Given the description of an element on the screen output the (x, y) to click on. 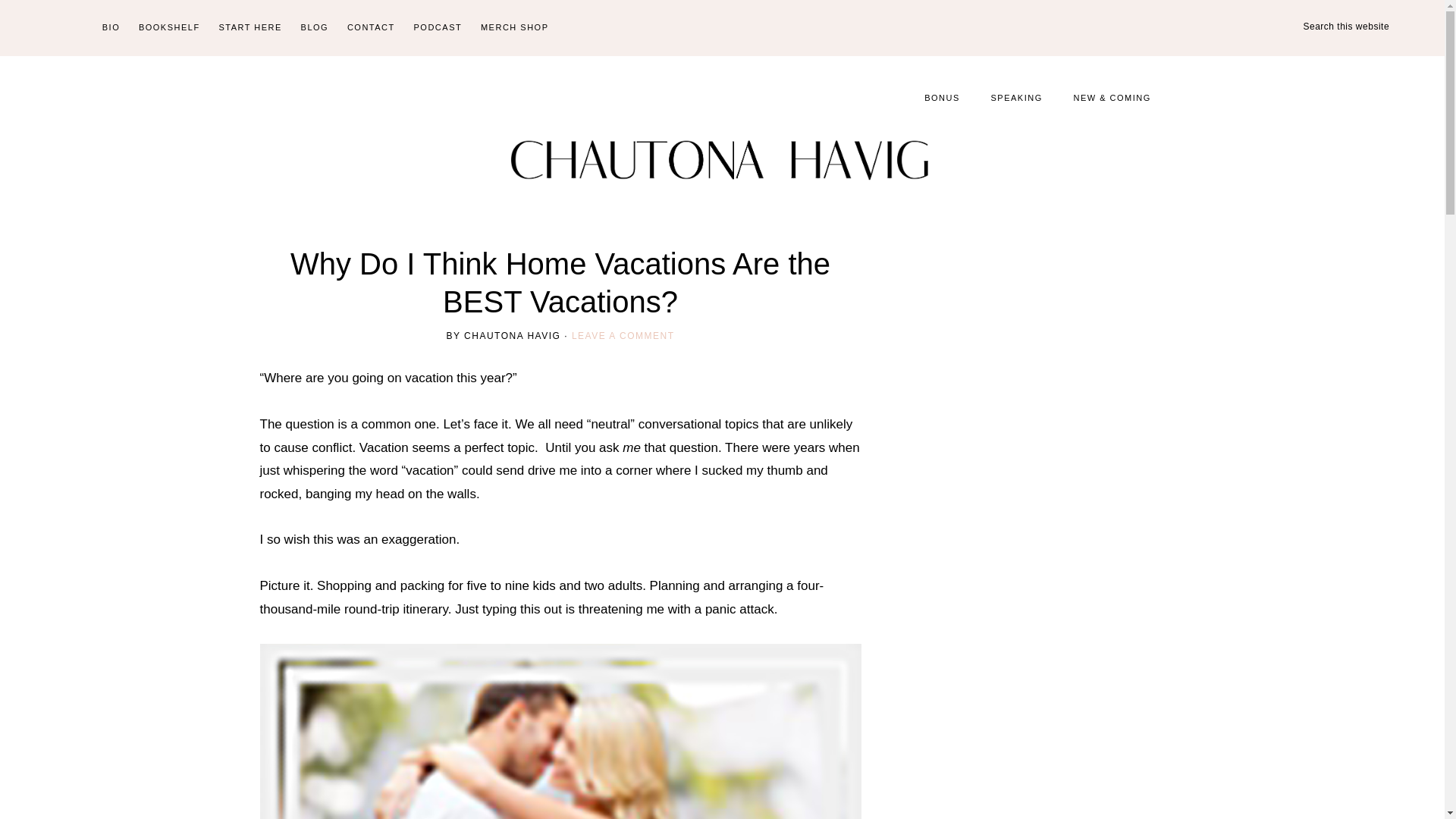
START HERE (249, 27)
BIO (111, 27)
CONTACT (371, 27)
MERCH SHOP (514, 27)
BLOG (315, 27)
BOOKSHELF (169, 27)
PODCAST (438, 27)
